Given the description of an element on the screen output the (x, y) to click on. 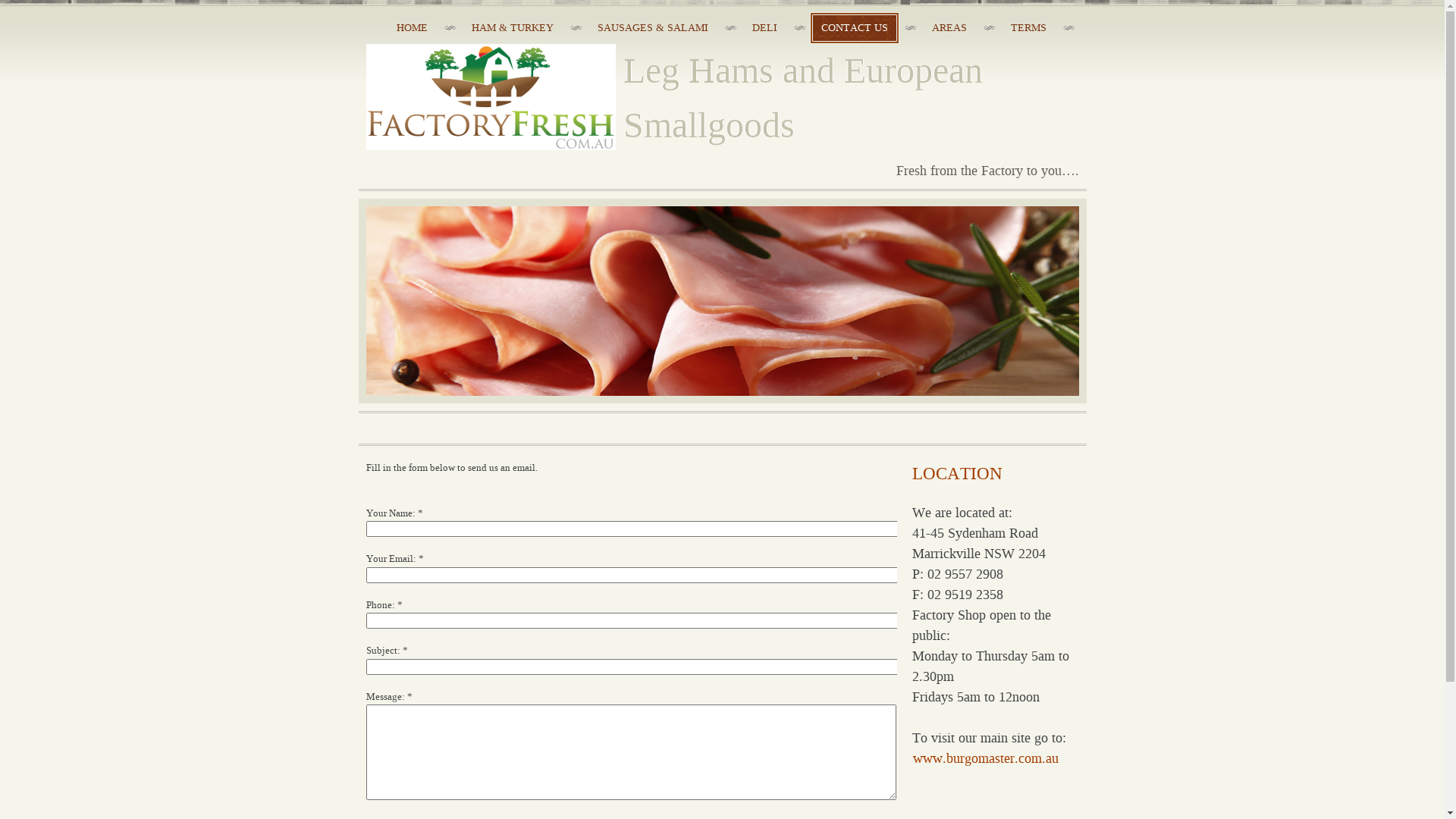
www.burgomaster.com.au Element type: text (984, 758)
DELI Element type: text (763, 27)
HOME Element type: text (412, 27)
TERMS Element type: text (1028, 27)
SAUSAGES & SALAMI Element type: text (651, 27)
CONTACT US Element type: text (854, 27)
HAM & TURKEY Element type: text (511, 27)
AREAS Element type: text (949, 27)
